Given the description of an element on the screen output the (x, y) to click on. 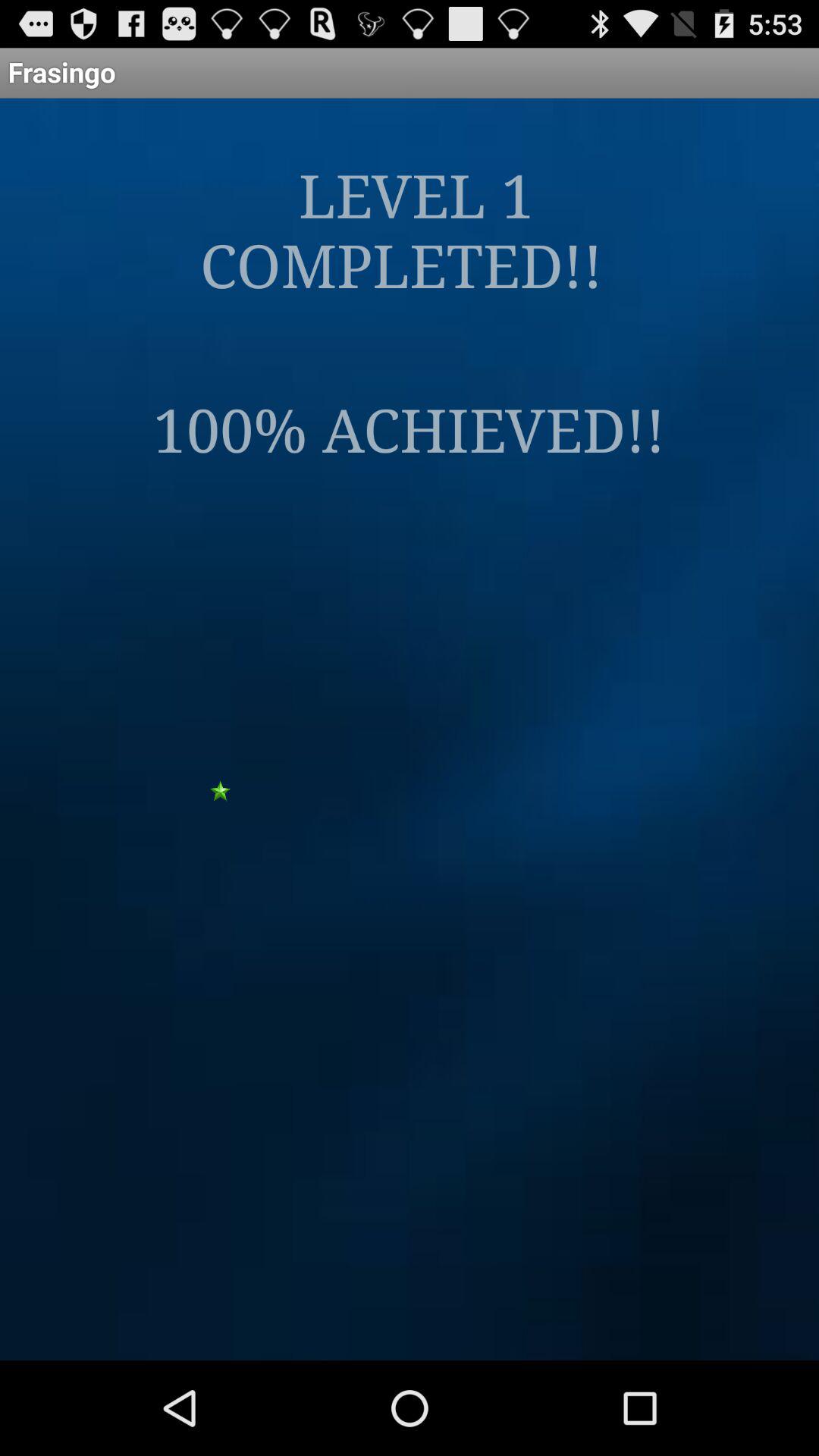
scroll to the  100% achieved!!  item (408, 427)
